Given the description of an element on the screen output the (x, y) to click on. 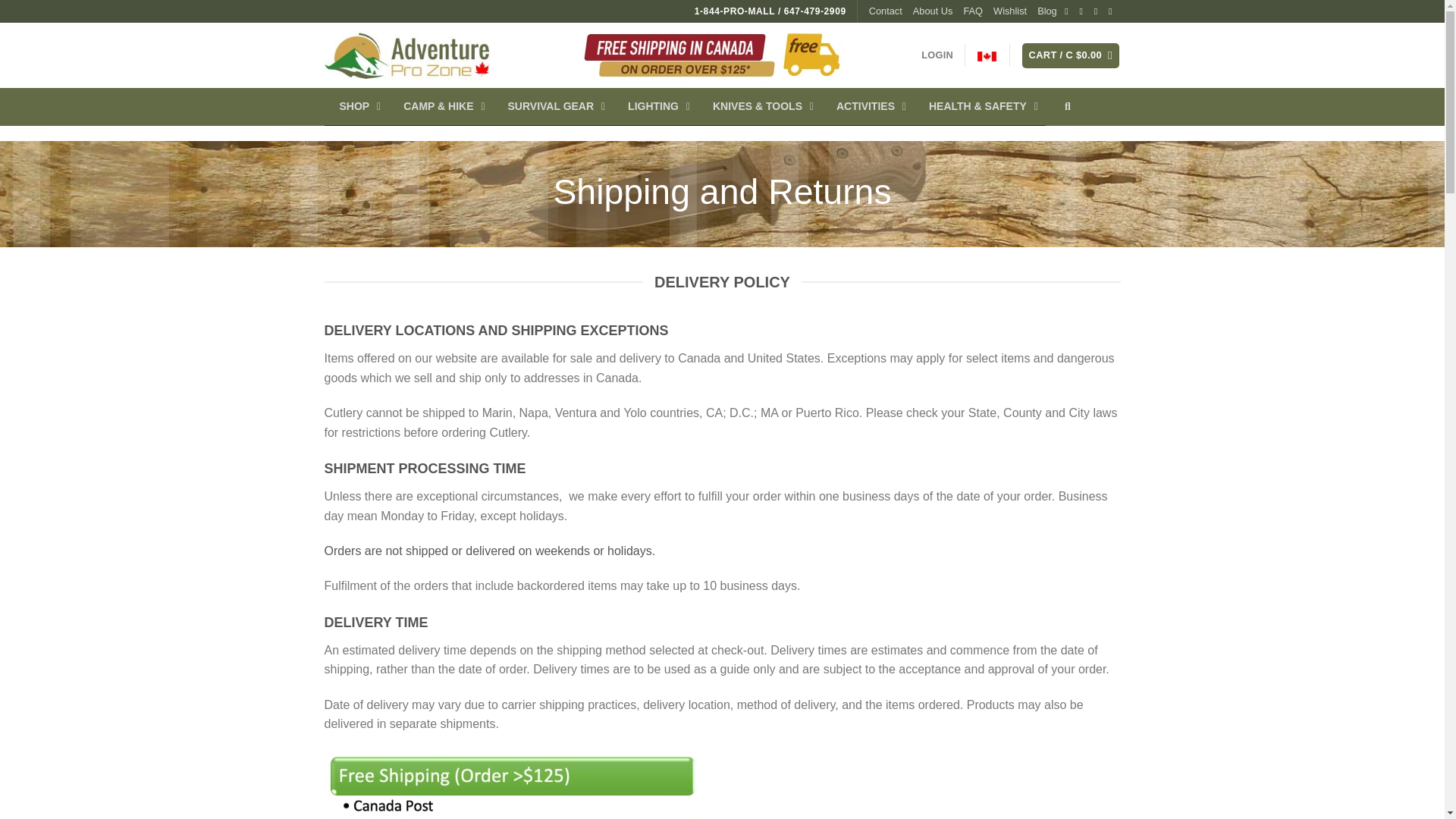
Wishlist (1009, 11)
Contact (885, 11)
Login (937, 54)
LOGIN (937, 54)
Cart (1070, 55)
About Us (932, 11)
SHOP (356, 105)
